Given the description of an element on the screen output the (x, y) to click on. 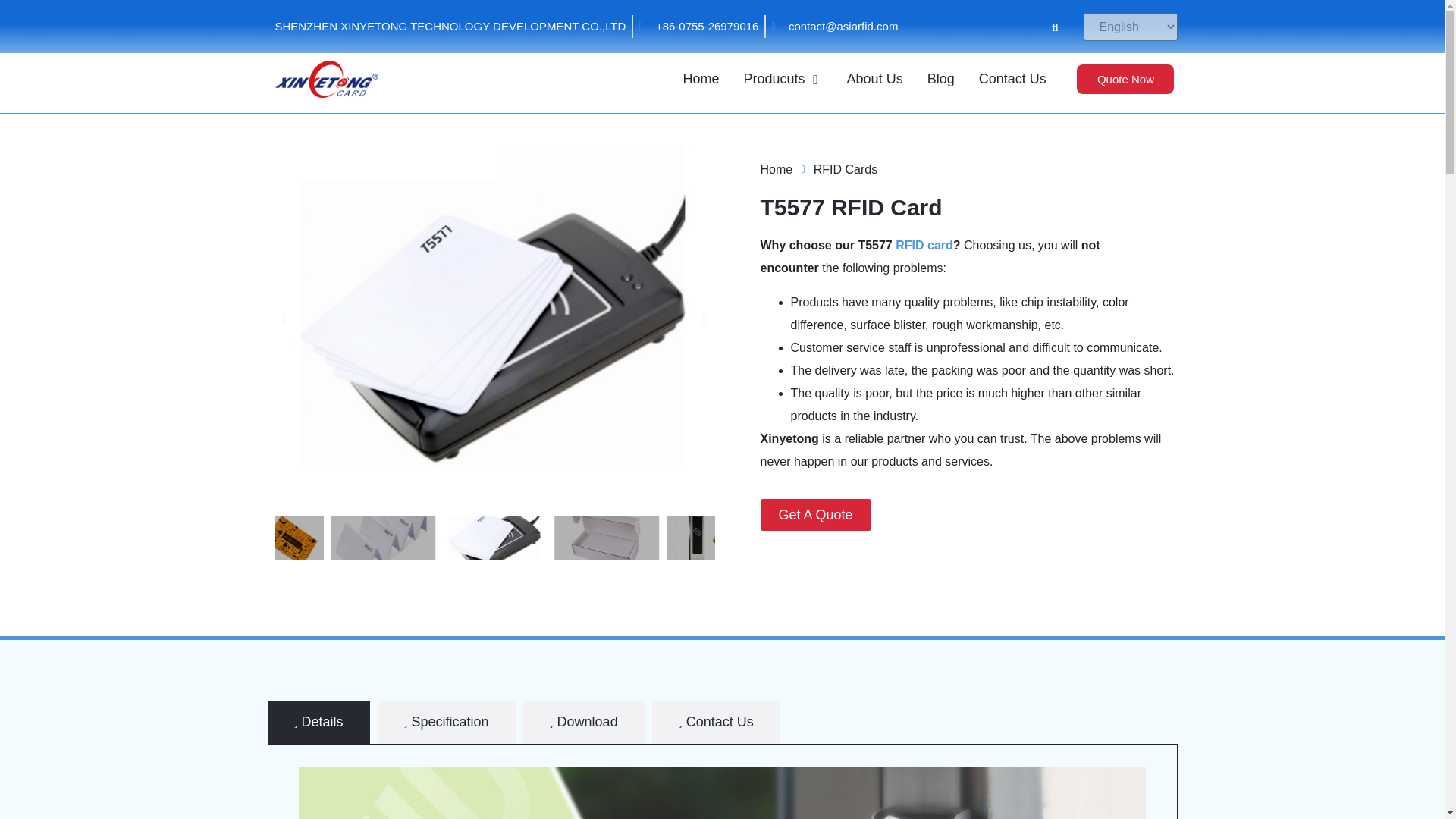
Home (700, 78)
Producuts (774, 78)
